Given the description of an element on the screen output the (x, y) to click on. 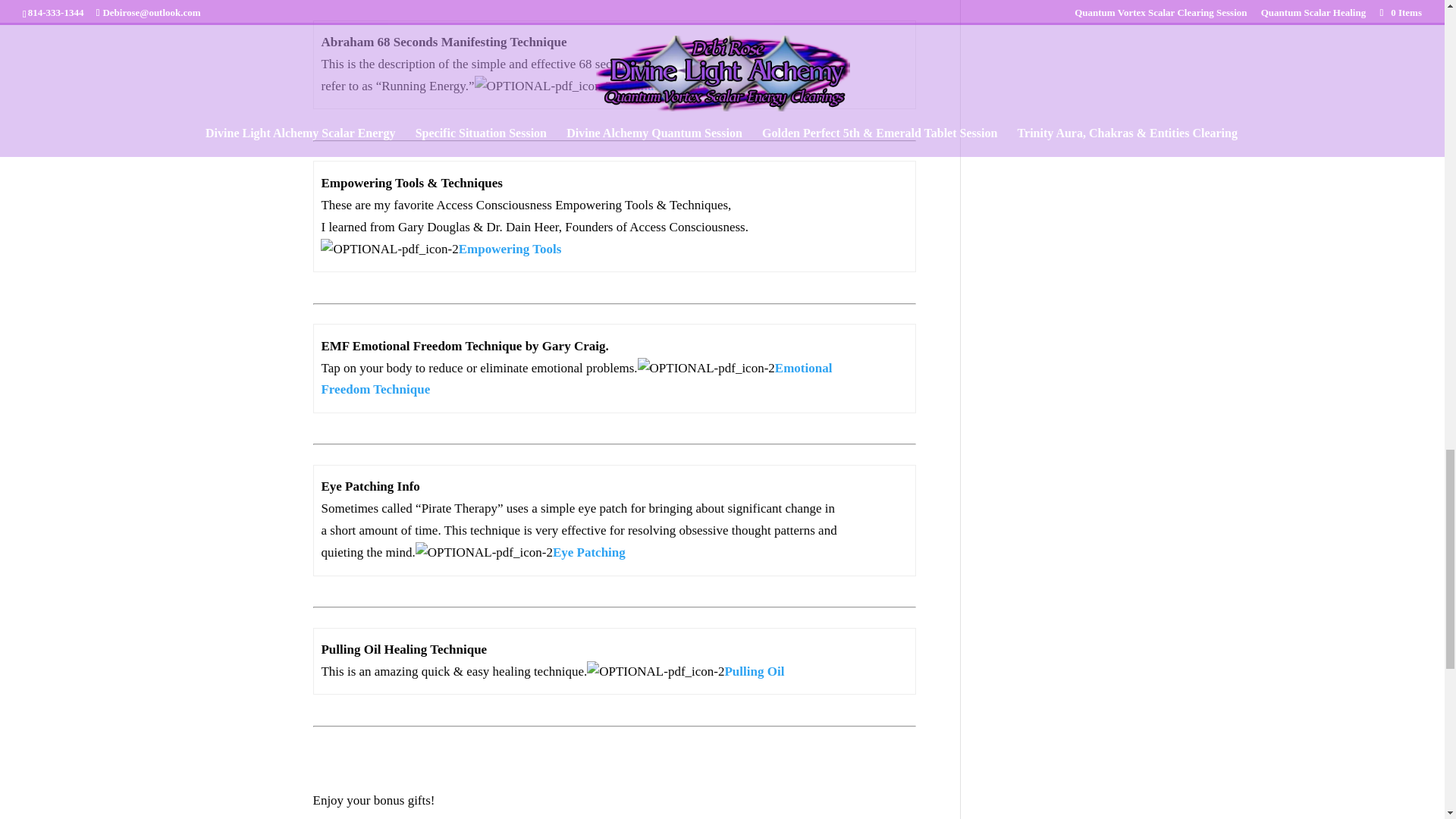
Pulling Oil (753, 671)
Emotional Freedom Technique (575, 379)
Empowering Tools (510, 248)
Eye Patching (589, 552)
Abraham 68 Seconds (670, 85)
